Given the description of an element on the screen output the (x, y) to click on. 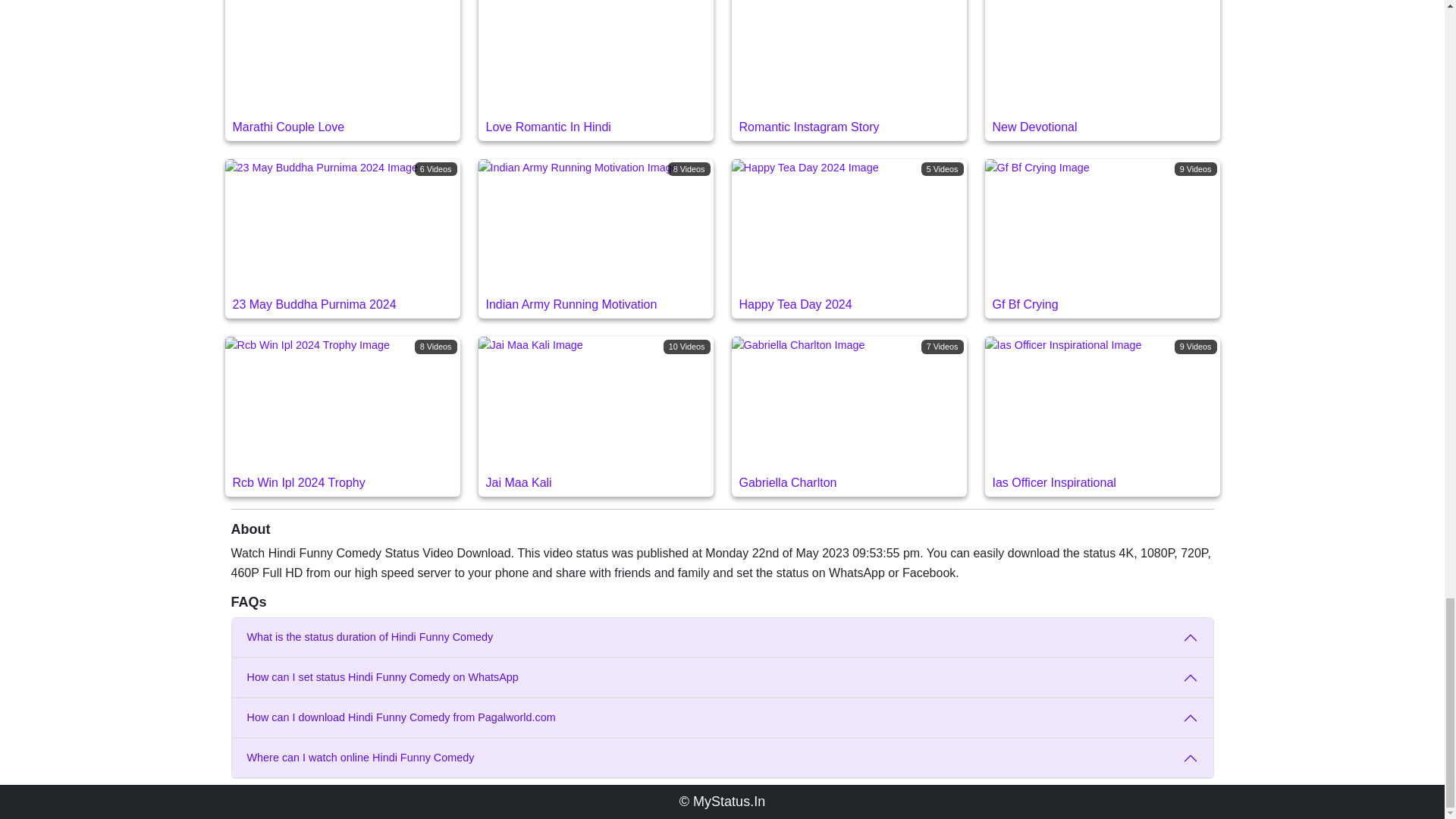
Where can I watch online Hindi Funny Comedy (595, 70)
What is the status duration of Hindi Funny Comedy (721, 758)
